Given the description of an element on the screen output the (x, y) to click on. 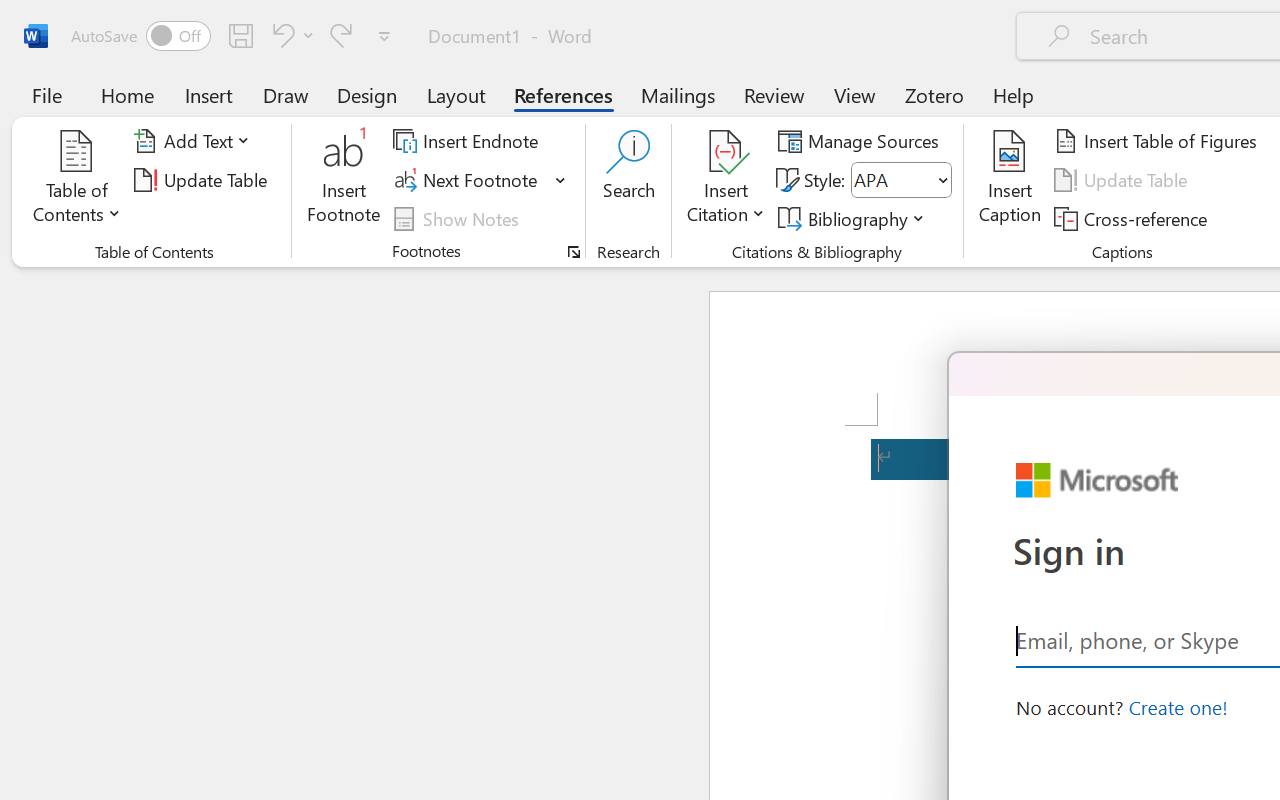
Table of Contents (77, 179)
Insert Footnote (344, 179)
Redo Apply Quick Style (341, 35)
Bibliography (854, 218)
Insert Caption... (1009, 180)
Style (892, 179)
Manage Sources... (861, 141)
Show Notes (459, 218)
Next Footnote (479, 179)
